Given the description of an element on the screen output the (x, y) to click on. 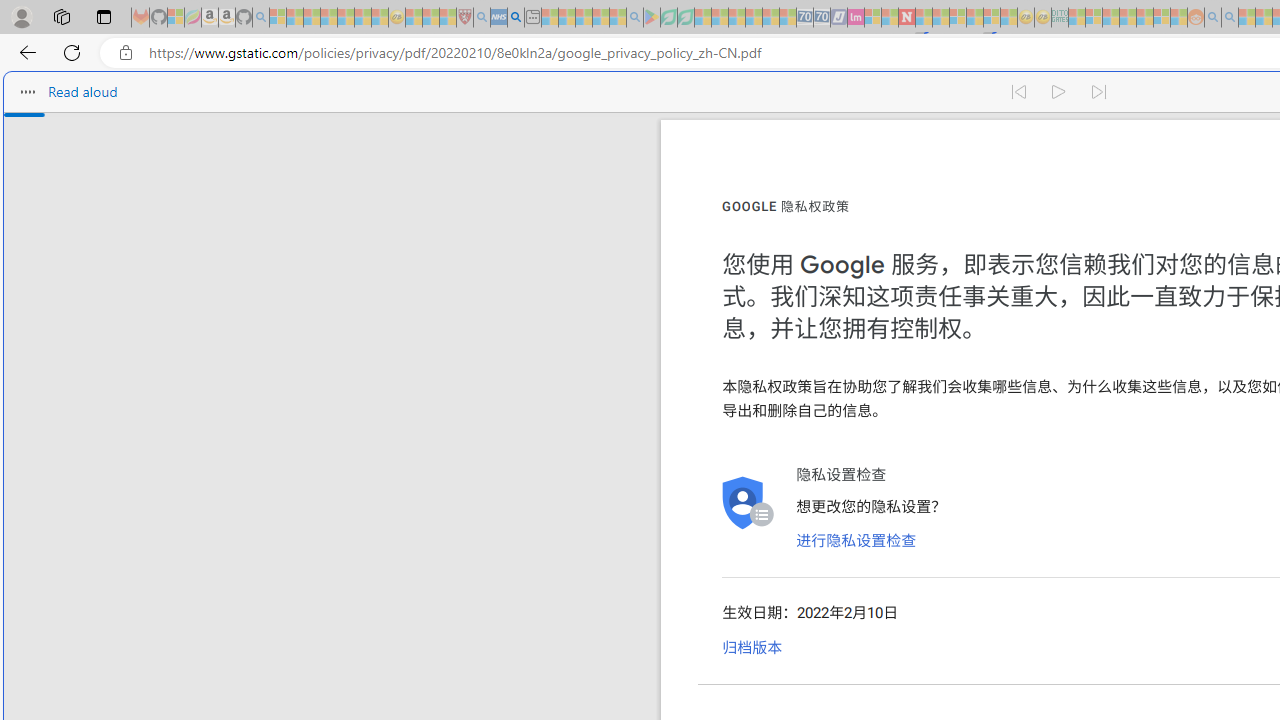
Recipes - MSN - Sleeping (413, 17)
Refresh (72, 52)
New Report Confirms 2023 Was Record Hot | Watch - Sleeping (345, 17)
Tab actions menu (104, 16)
Expert Portfolios - Sleeping (1128, 17)
New tab - Sleeping (532, 17)
Terms of Use Agreement - Sleeping (668, 17)
Cheap Car Rentals - Save70.com - Sleeping (804, 17)
Personal Profile (21, 16)
Trusted Community Engagement and Contributions | Guidelines (923, 17)
Local - MSN - Sleeping (447, 17)
